Given the description of an element on the screen output the (x, y) to click on. 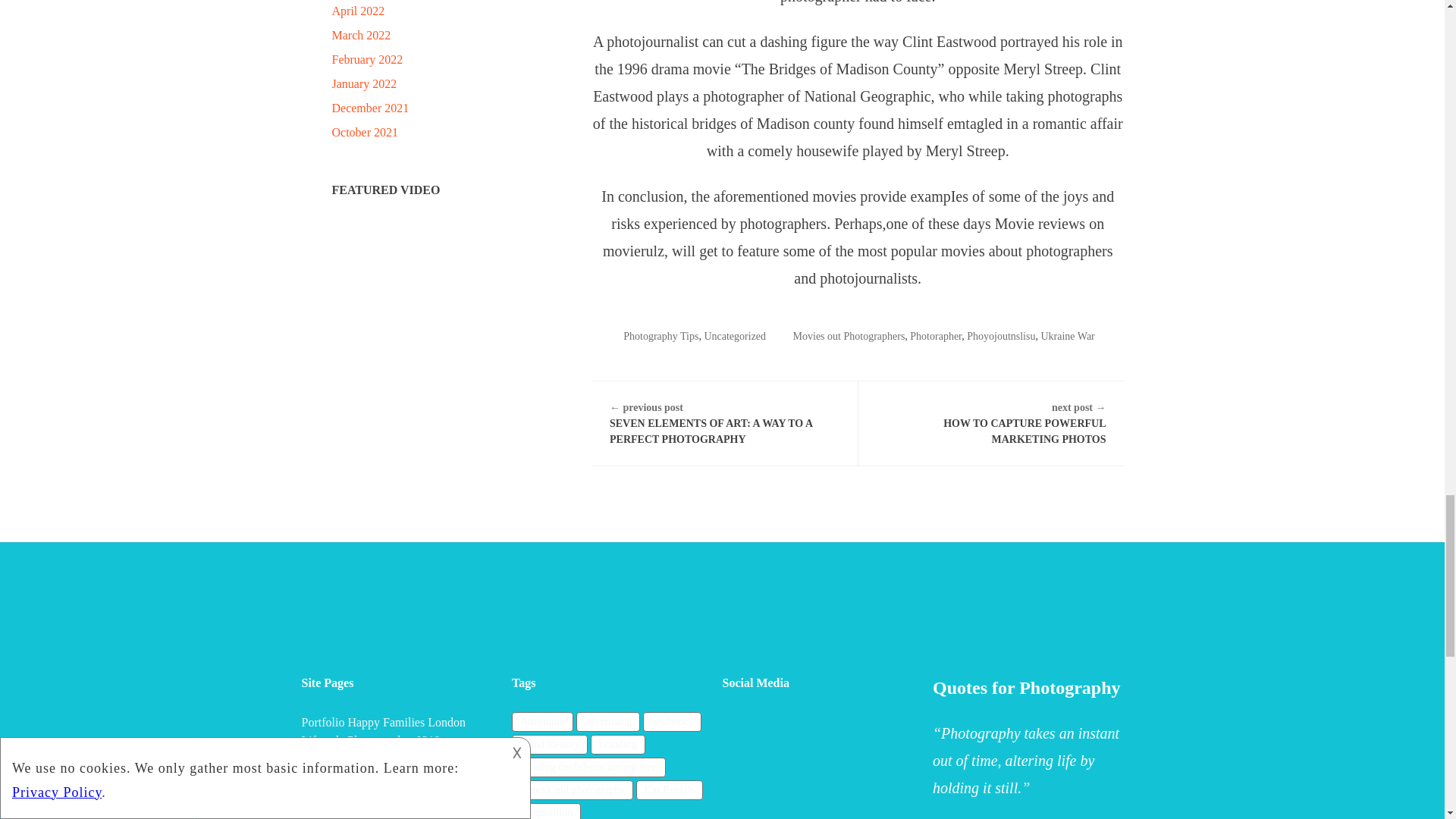
Uncategorized (734, 336)
Photography Tips (660, 336)
Photorapher (935, 336)
Phoyojoutnslisu (1000, 336)
YouTube video player (434, 284)
Movies out Photographers (849, 336)
Ukraine War (1067, 336)
